Given the description of an element on the screen output the (x, y) to click on. 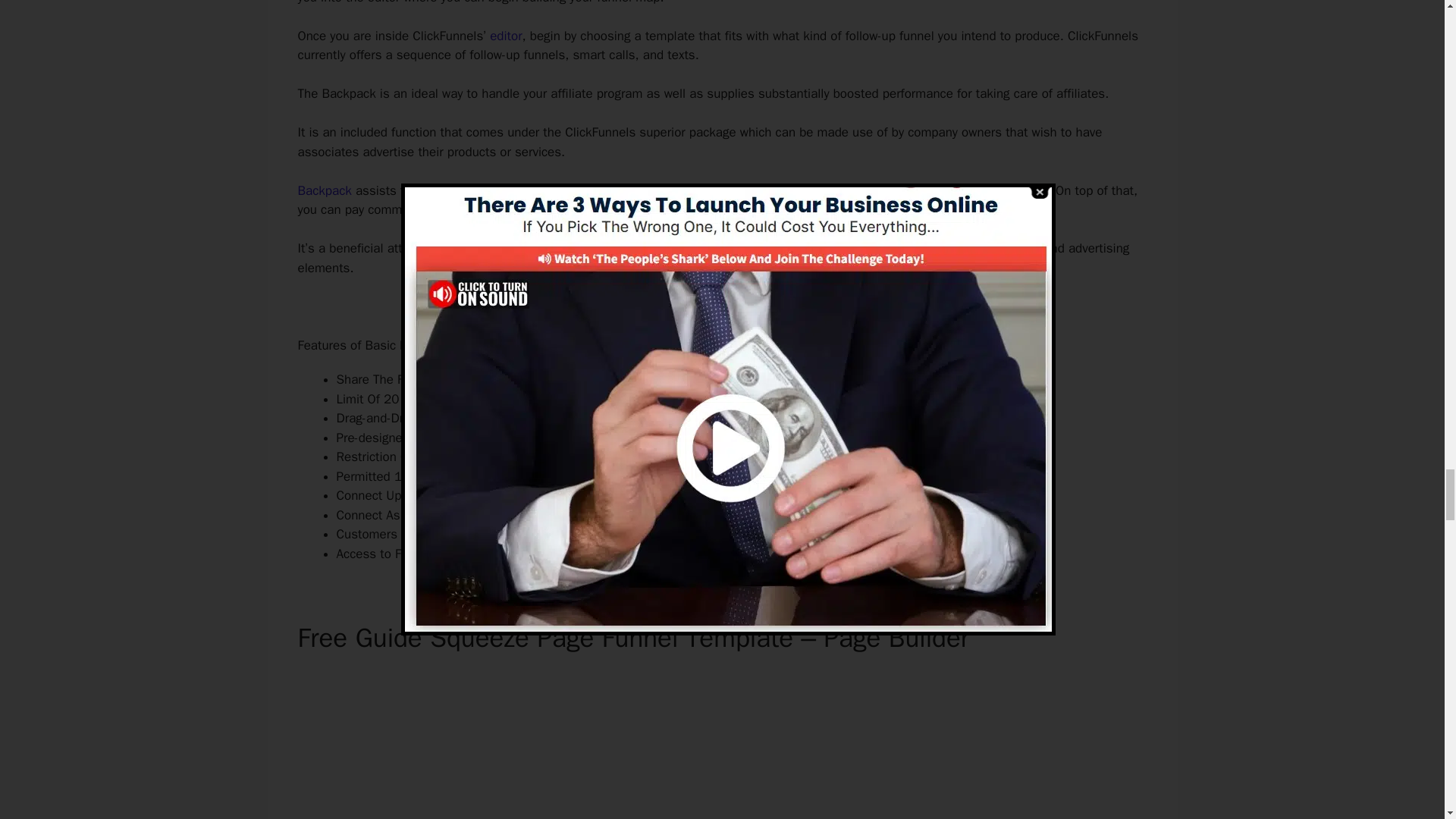
Backpack (323, 190)
editor (505, 35)
Domains (491, 514)
